Given the description of an element on the screen output the (x, y) to click on. 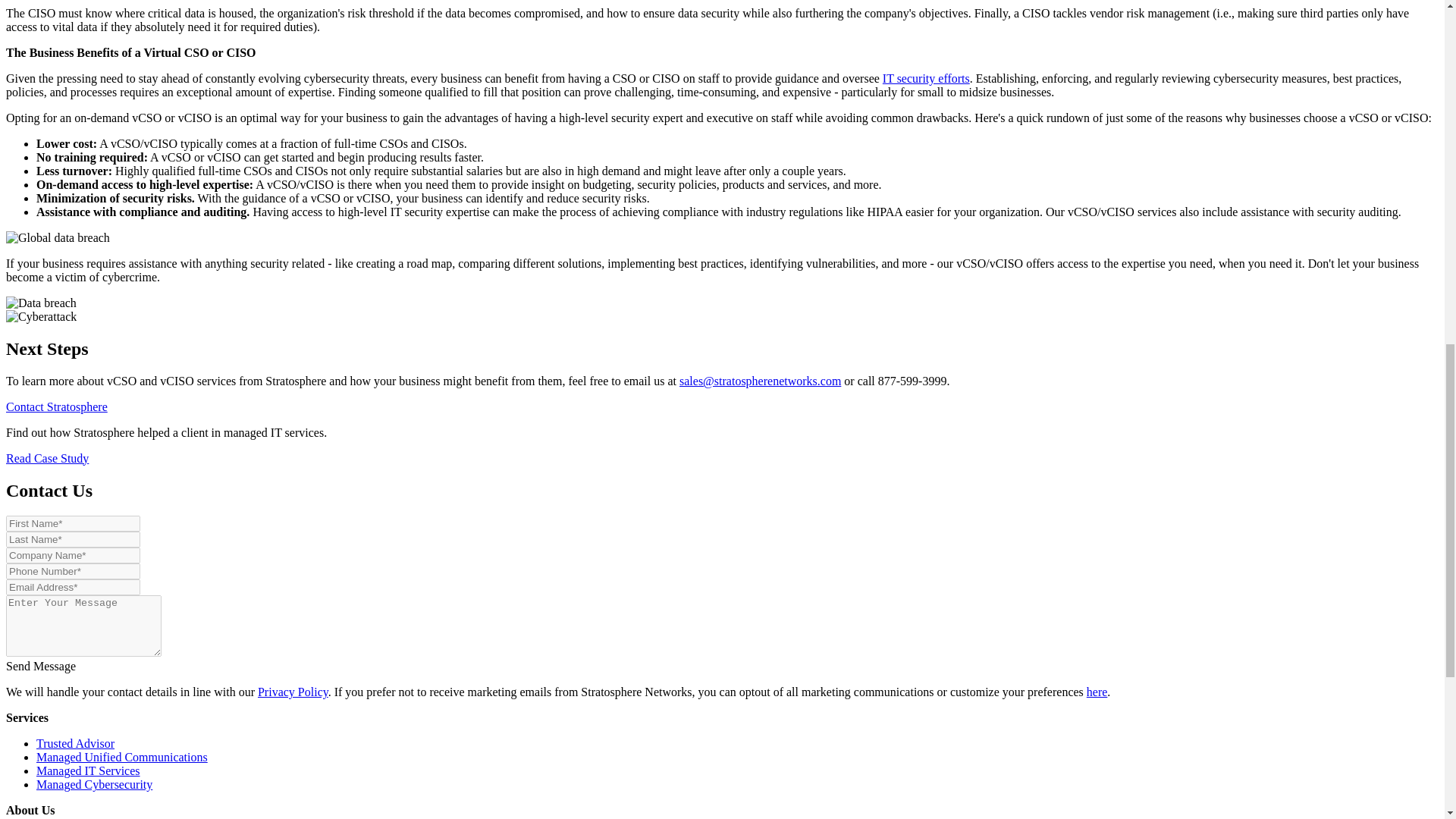
First Name (72, 523)
Company Name (72, 555)
Last Name (72, 539)
Phone Number (72, 571)
Message (83, 625)
Email Address (72, 587)
